Given the description of an element on the screen output the (x, y) to click on. 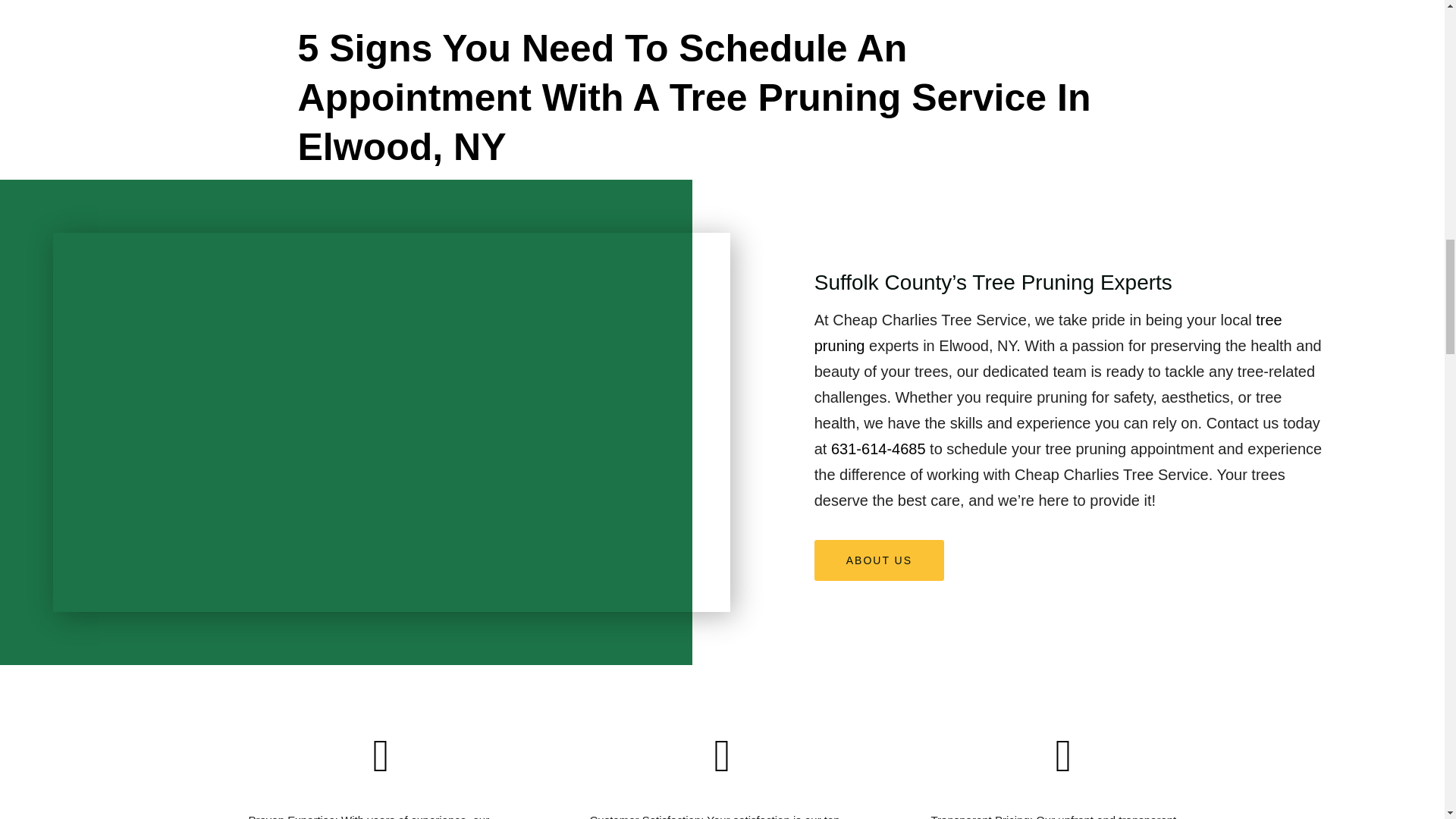
Tree Trimming,Tree Pruning (1047, 332)
631-614-4685 (878, 448)
tree pruning (1047, 332)
ABOUT US (878, 559)
